Given the description of an element on the screen output the (x, y) to click on. 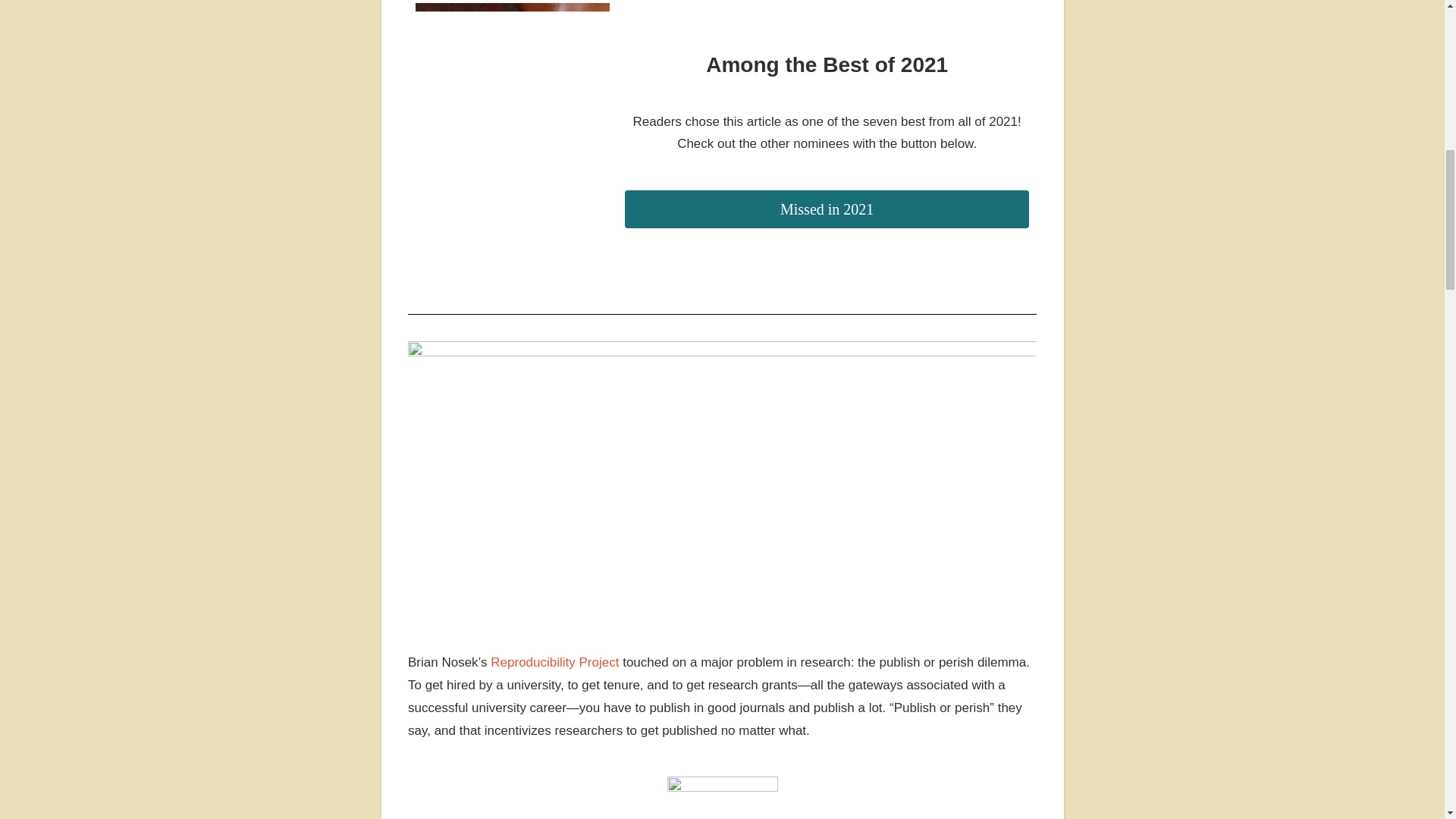
Reproducibility Project (554, 662)
Missed in 2021 (826, 209)
